Given the description of an element on the screen output the (x, y) to click on. 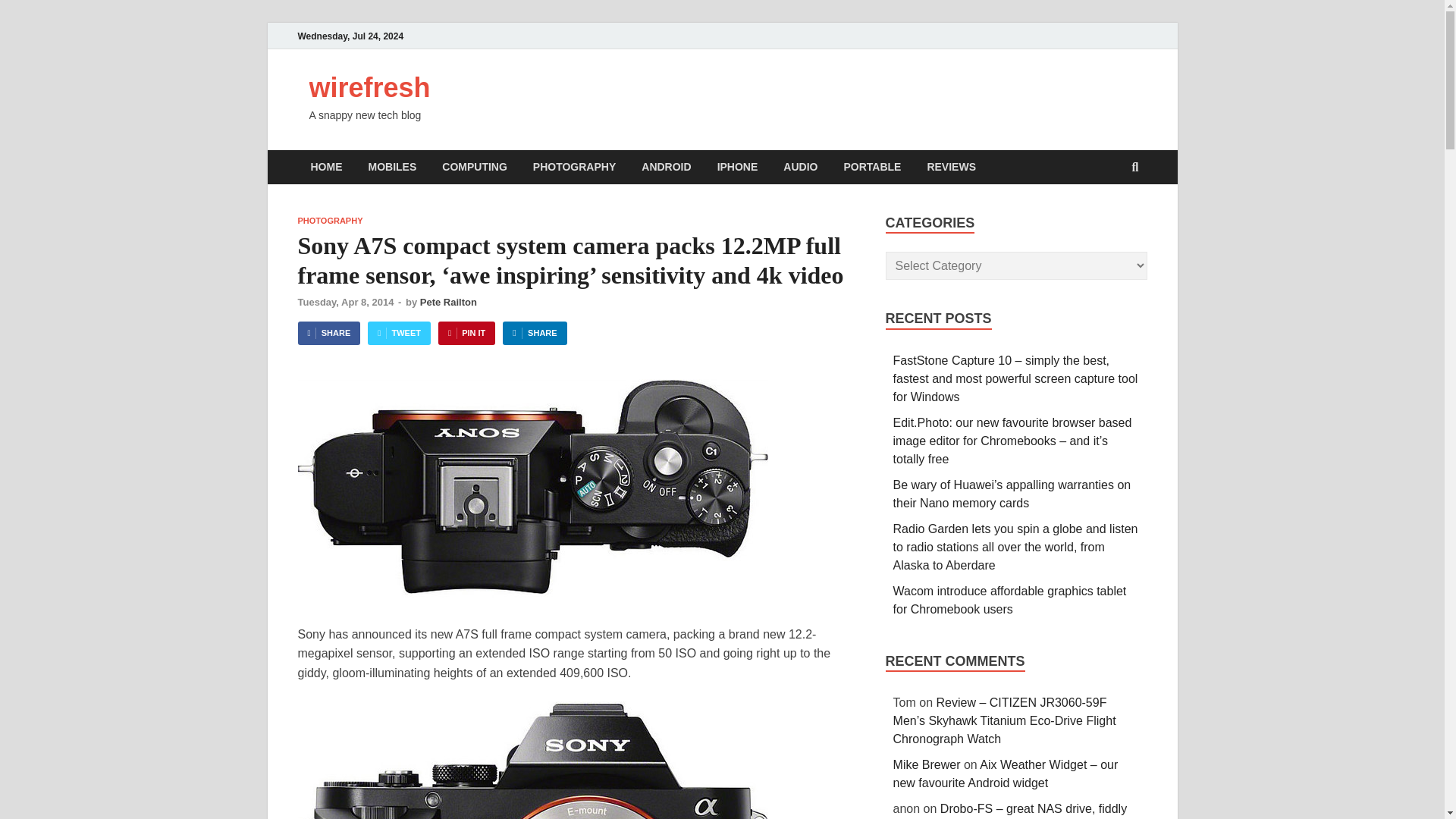
AUDIO (799, 166)
SHARE (534, 332)
HOME (326, 166)
ANDROID (665, 166)
Tuesday, Apr 8, 2014 (345, 301)
REVIEWS (951, 166)
PIN IT (466, 332)
MOBILES (392, 166)
PHOTOGRAPHY (573, 166)
SHARE (328, 332)
TWEET (399, 332)
COMPUTING (474, 166)
PHOTOGRAPHY (329, 220)
IPHONE (737, 166)
Pete Railton (448, 301)
